Given the description of an element on the screen output the (x, y) to click on. 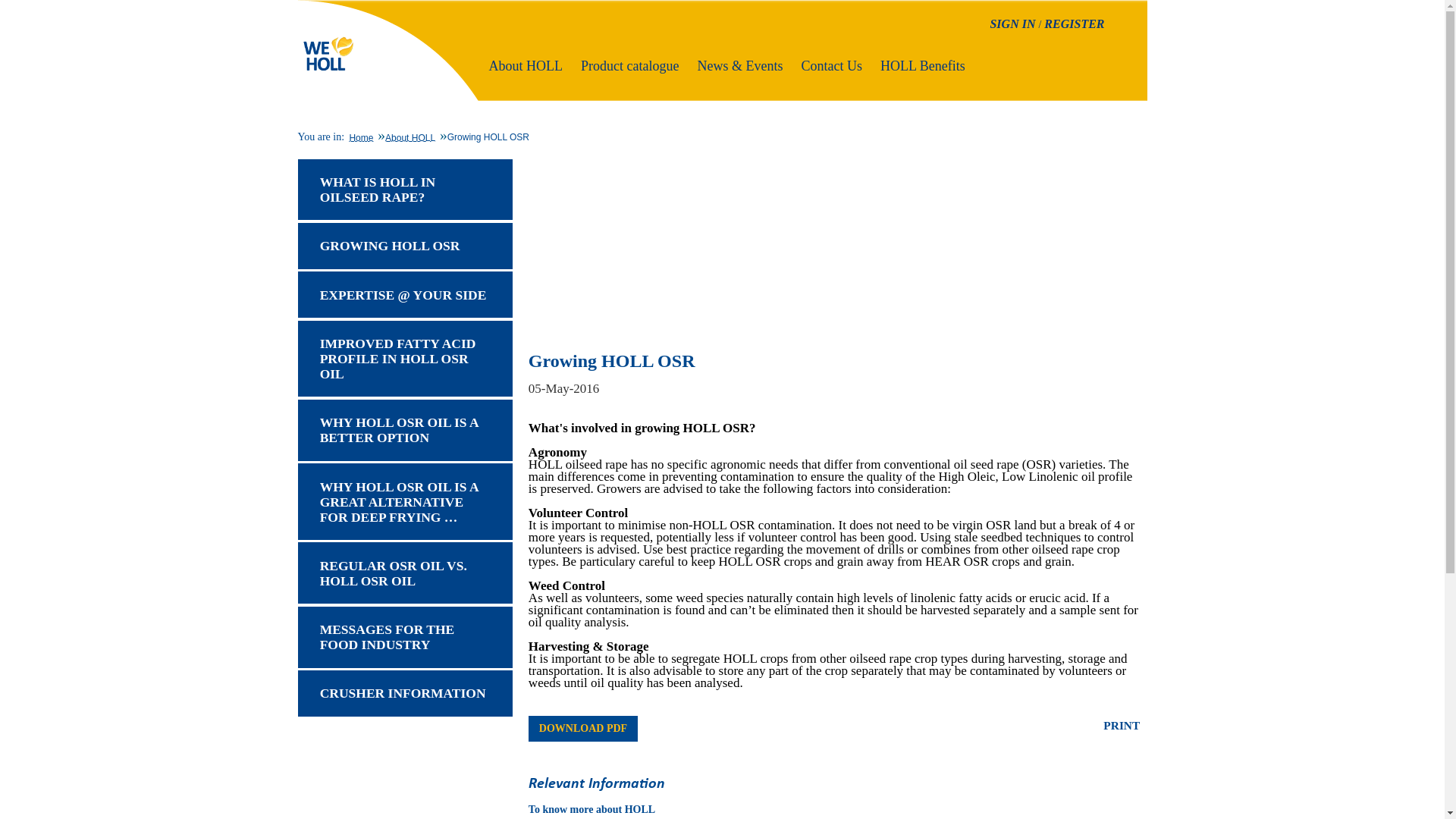
HOLL Benefits (924, 65)
REGULAR OSR OIL VS. HOLL OSR OIL (404, 572)
IMPROVED FATTY ACID PROFILE IN HOLL OSR OIL (404, 359)
Go to UK (326, 21)
CRUSHER INFORMATION (404, 693)
To know more about HOLL (591, 809)
Contact Us (833, 65)
WHY HOLL OSR OIL IS A BETTER OPTION (404, 430)
Download pdf (582, 728)
GROWING HOLL OSR (404, 245)
Growing HOLL OSR (488, 134)
About HOLL (410, 134)
About HOLL (526, 65)
Home (360, 134)
REGISTER (1072, 23)
